Given the description of an element on the screen output the (x, y) to click on. 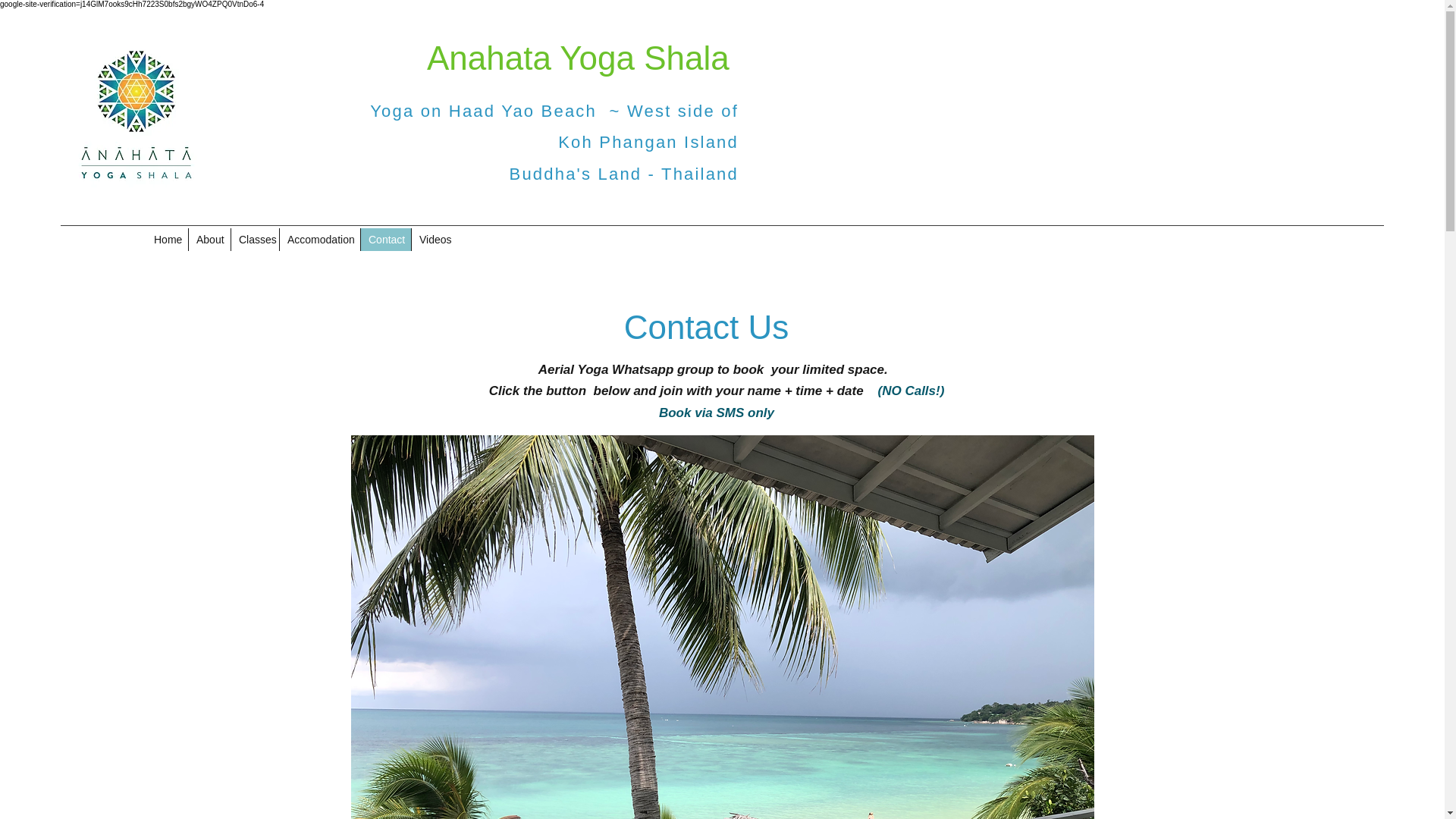
Videos (433, 239)
Classes (254, 239)
Home (167, 239)
Accomodation (319, 239)
About (208, 239)
Contact (384, 239)
